Given the description of an element on the screen output the (x, y) to click on. 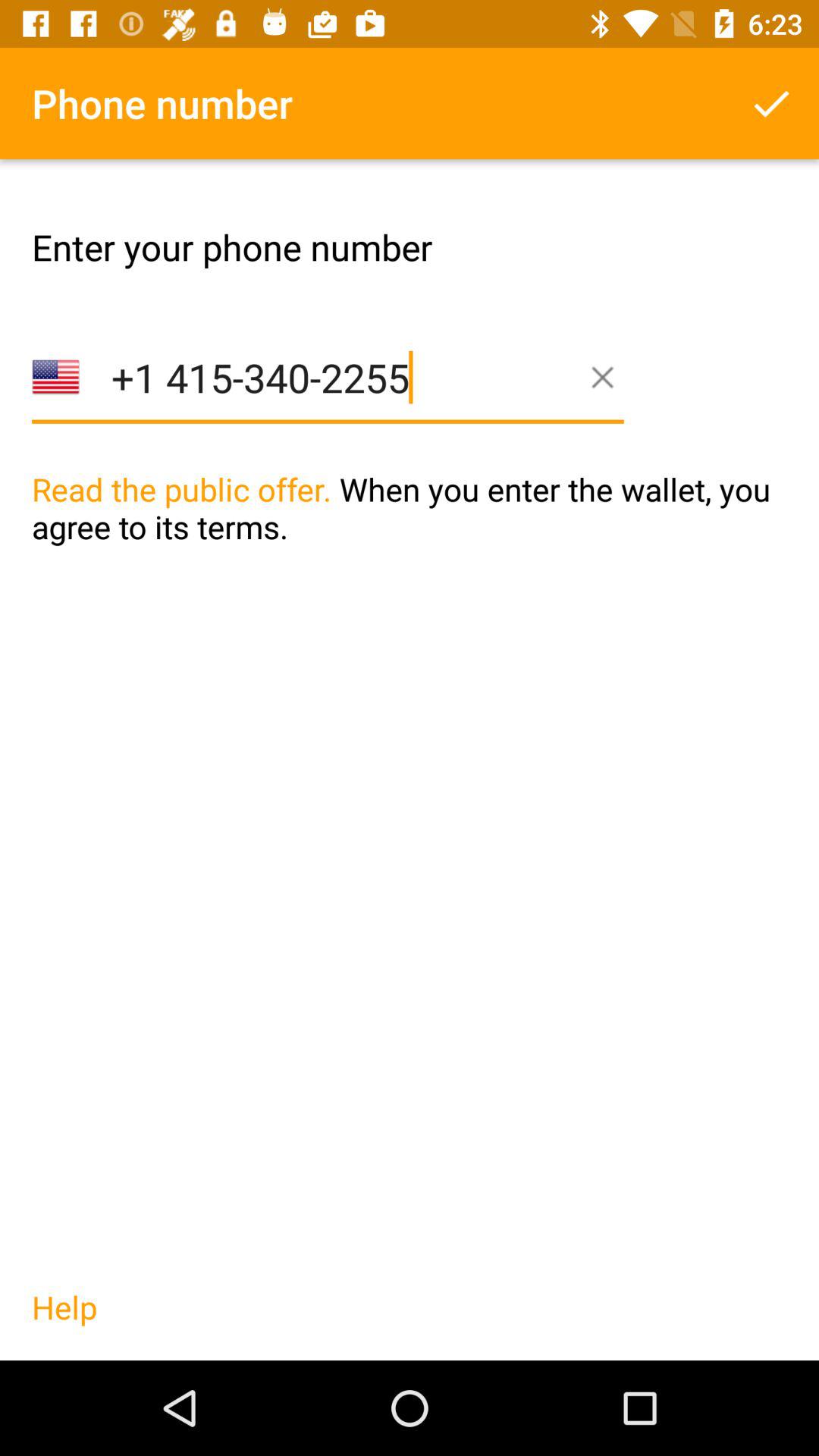
click item above the read the public (327, 400)
